Given the description of an element on the screen output the (x, y) to click on. 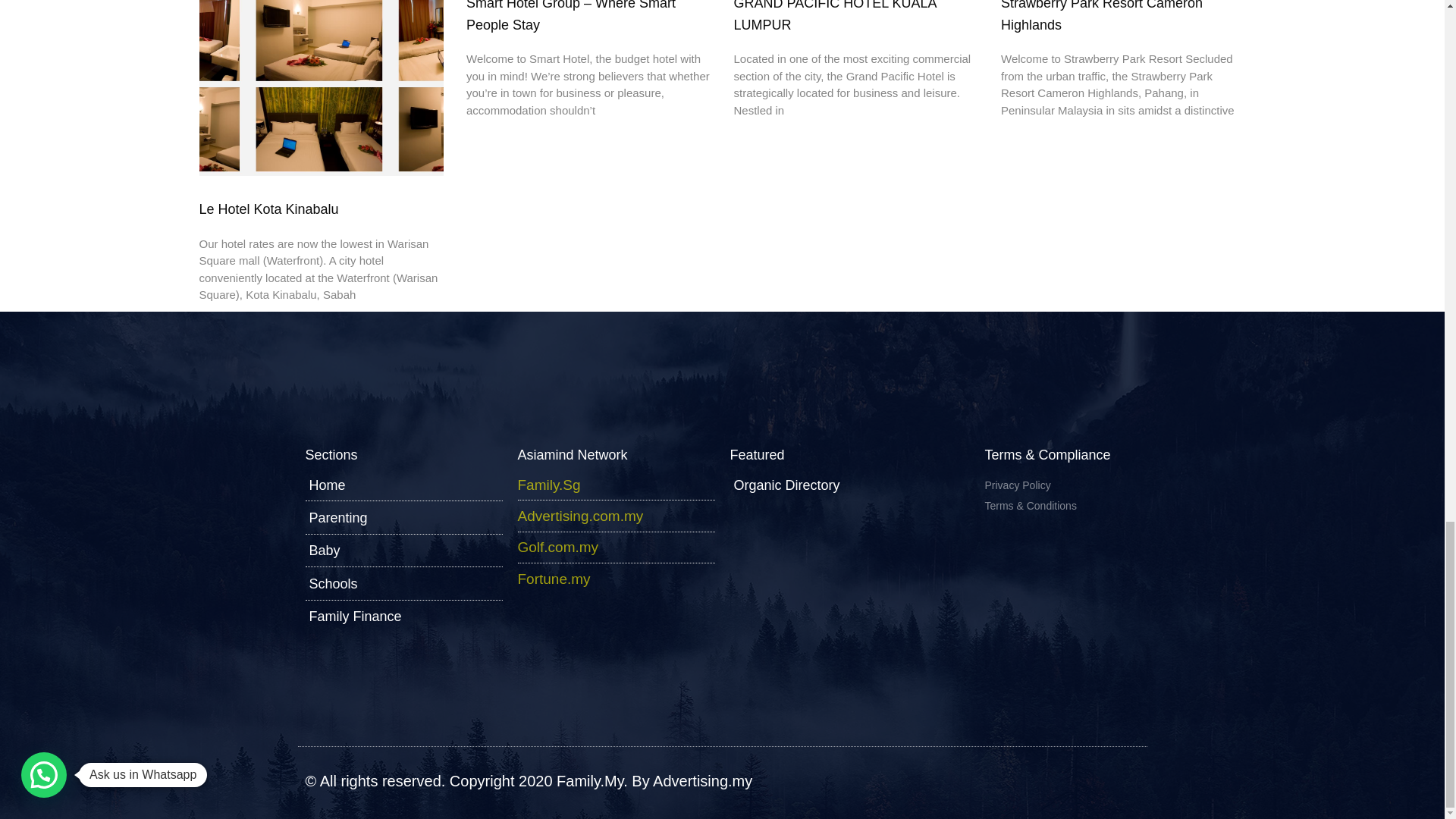
Privacy Policy (1061, 484)
Le Hotel Kota Kinabalu (267, 209)
Parenting (403, 517)
Family Finance (403, 616)
Home (403, 484)
GRAND PACIFIC HOTEL KUALA LUMPUR (834, 16)
Schools (403, 583)
Organic Directory (827, 484)
Strawberry Park Resort Cameron Highlands (1101, 16)
Baby (403, 550)
